Given the description of an element on the screen output the (x, y) to click on. 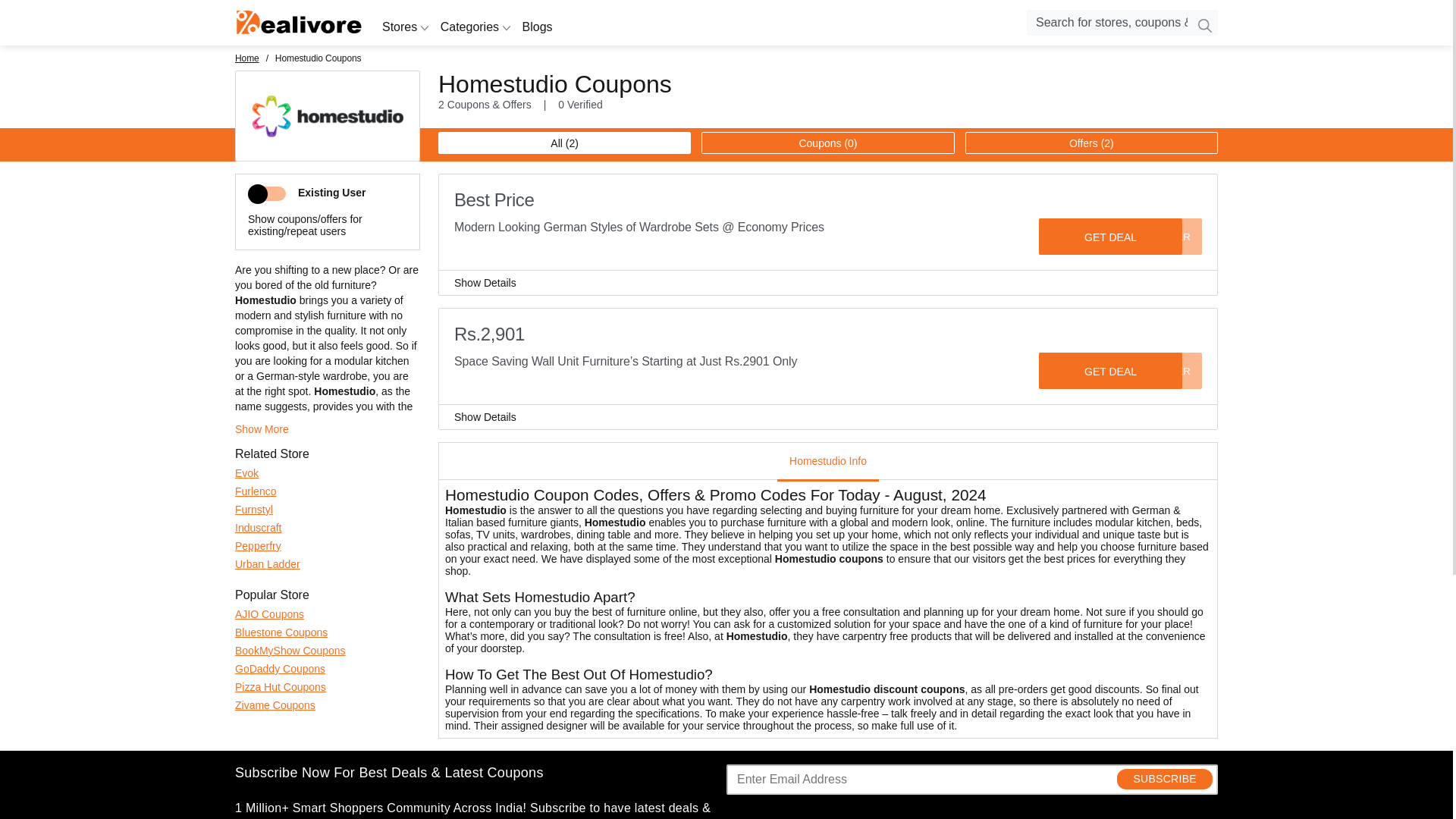
Stores (404, 26)
Homestudio Coupons (327, 142)
Home (299, 22)
